Given the description of an element on the screen output the (x, y) to click on. 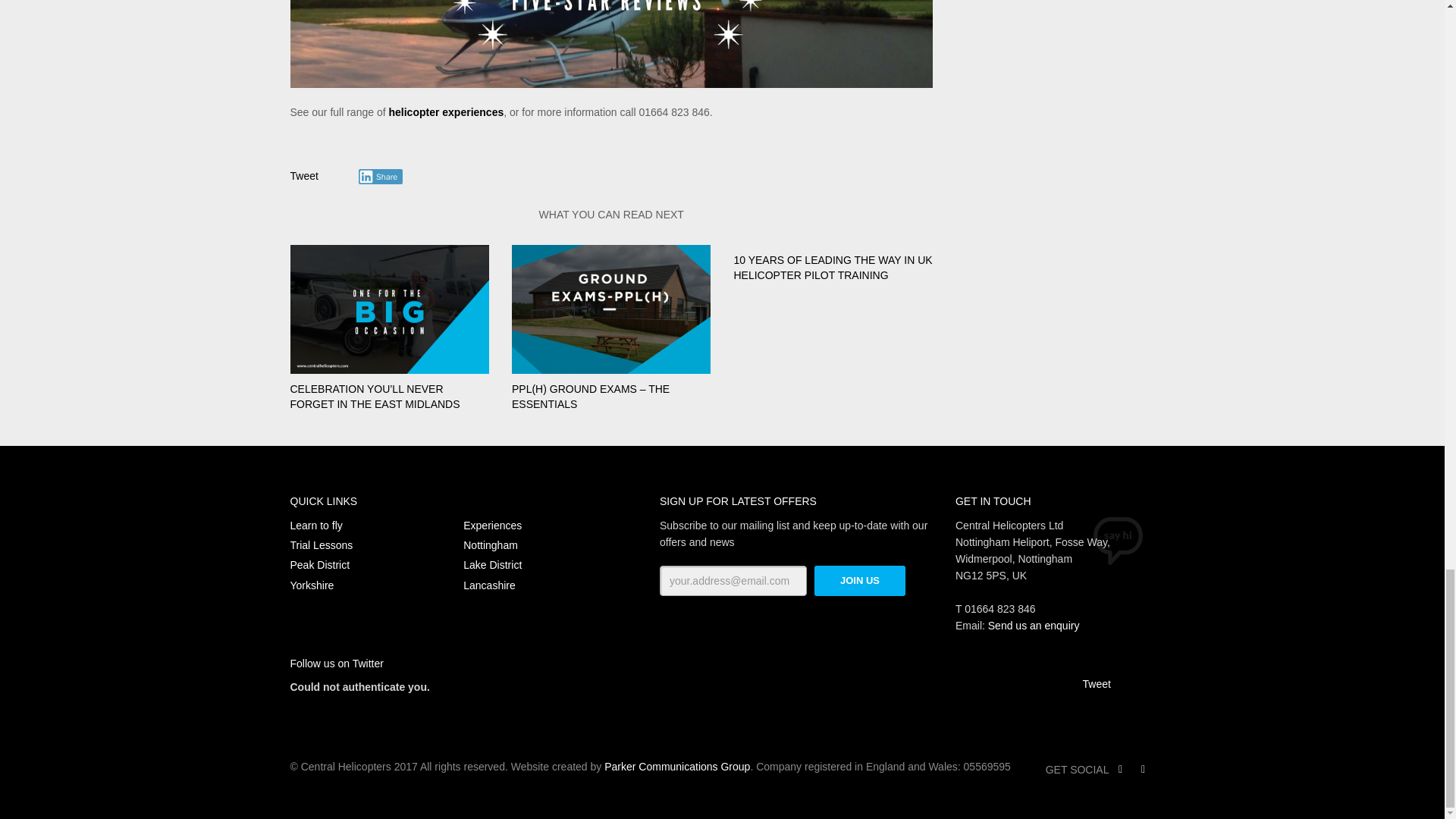
JOIN US (859, 581)
